Given the description of an element on the screen output the (x, y) to click on. 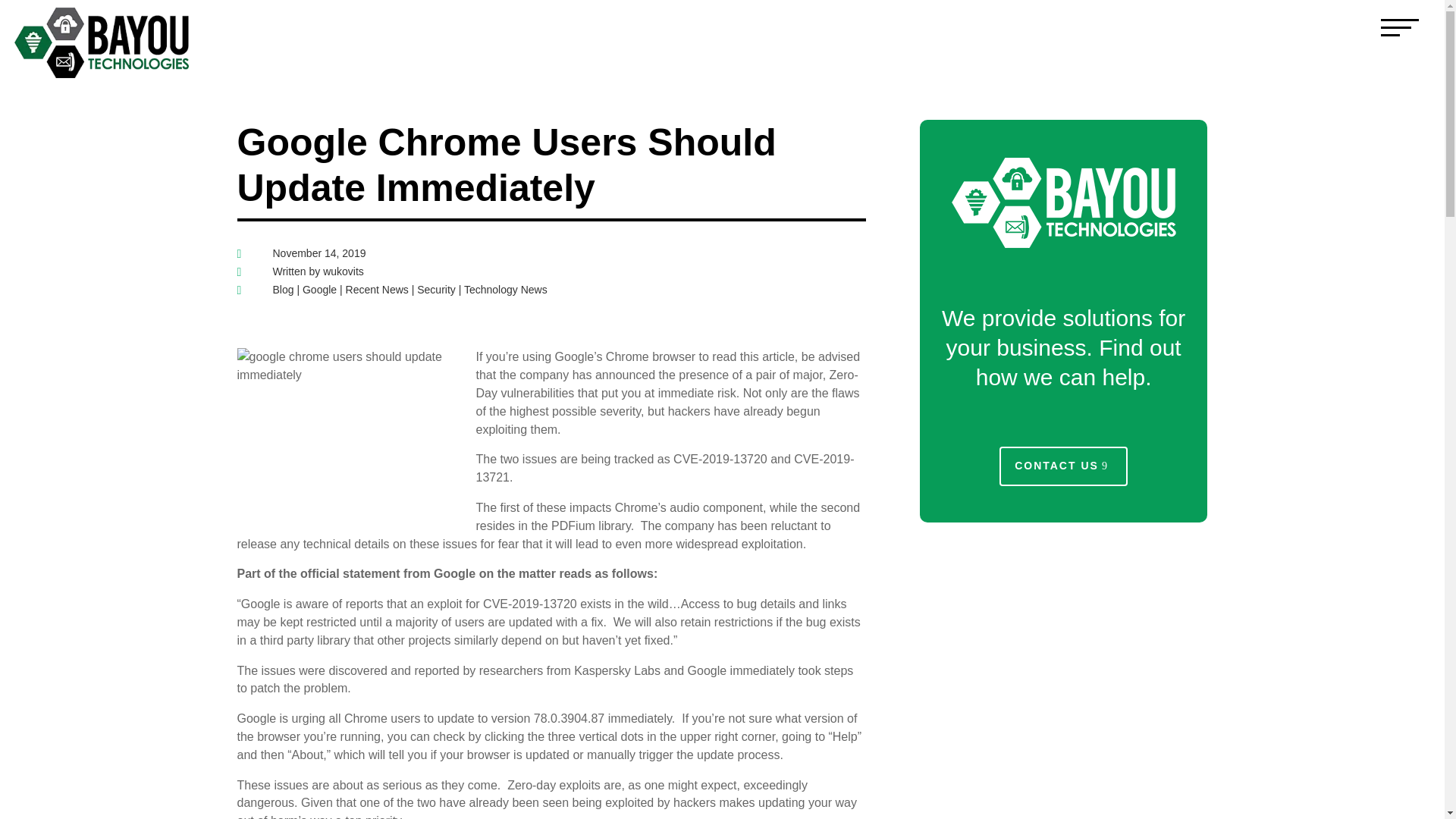
Google (319, 289)
Recent News (377, 289)
Security (435, 289)
Blog (283, 289)
BayouTech logo (101, 73)
CONTACT US (1063, 465)
Technology News (505, 289)
wukovits (343, 271)
